Given the description of an element on the screen output the (x, y) to click on. 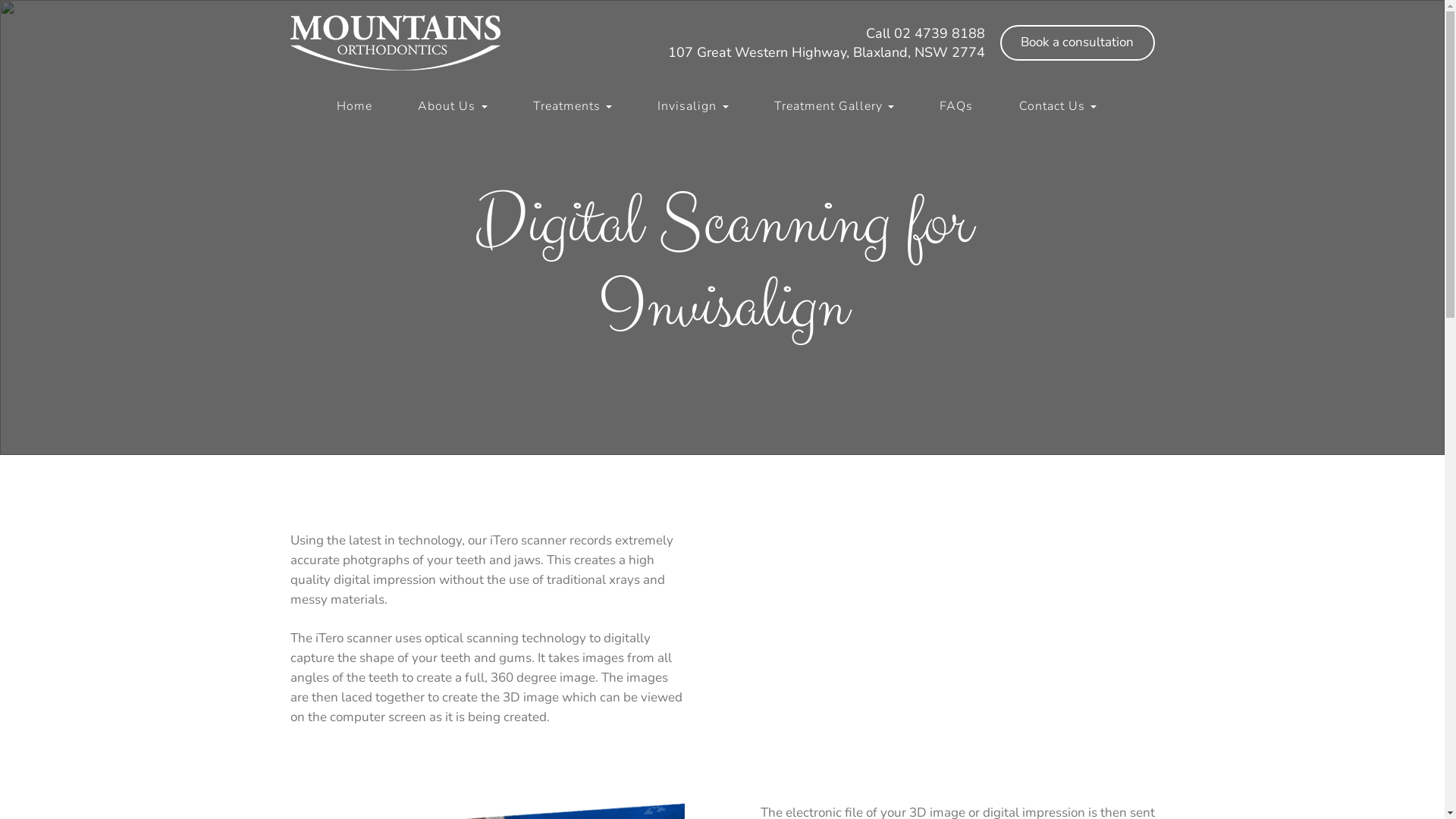
02 4739 8188 Element type: text (938, 33)
Book a consultation Element type: text (1076, 42)
Treatment Gallery Element type: text (843, 106)
Home Element type: text (369, 106)
Treatments Element type: text (581, 106)
Contact Us Element type: text (1057, 106)
Invisalign Element type: text (702, 106)
About Us Element type: text (461, 106)
FAQs Element type: text (965, 106)
